Given the description of an element on the screen output the (x, y) to click on. 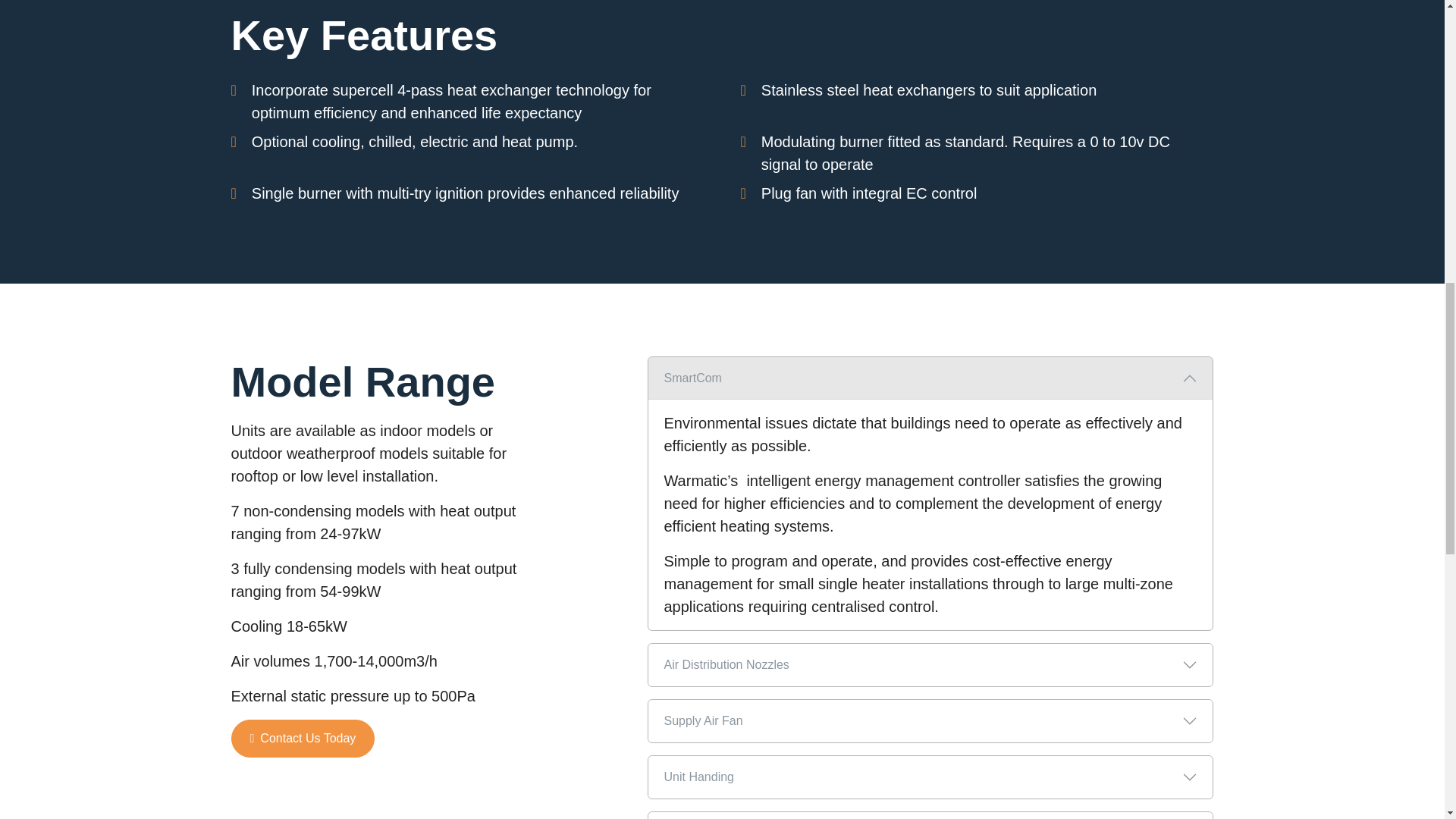
SmartCom (929, 378)
Unit Handing (929, 776)
Air Distribution Nozzles (929, 664)
Construction (929, 815)
Contact Us Today (303, 738)
Supply Air Fan (929, 721)
